Given the description of an element on the screen output the (x, y) to click on. 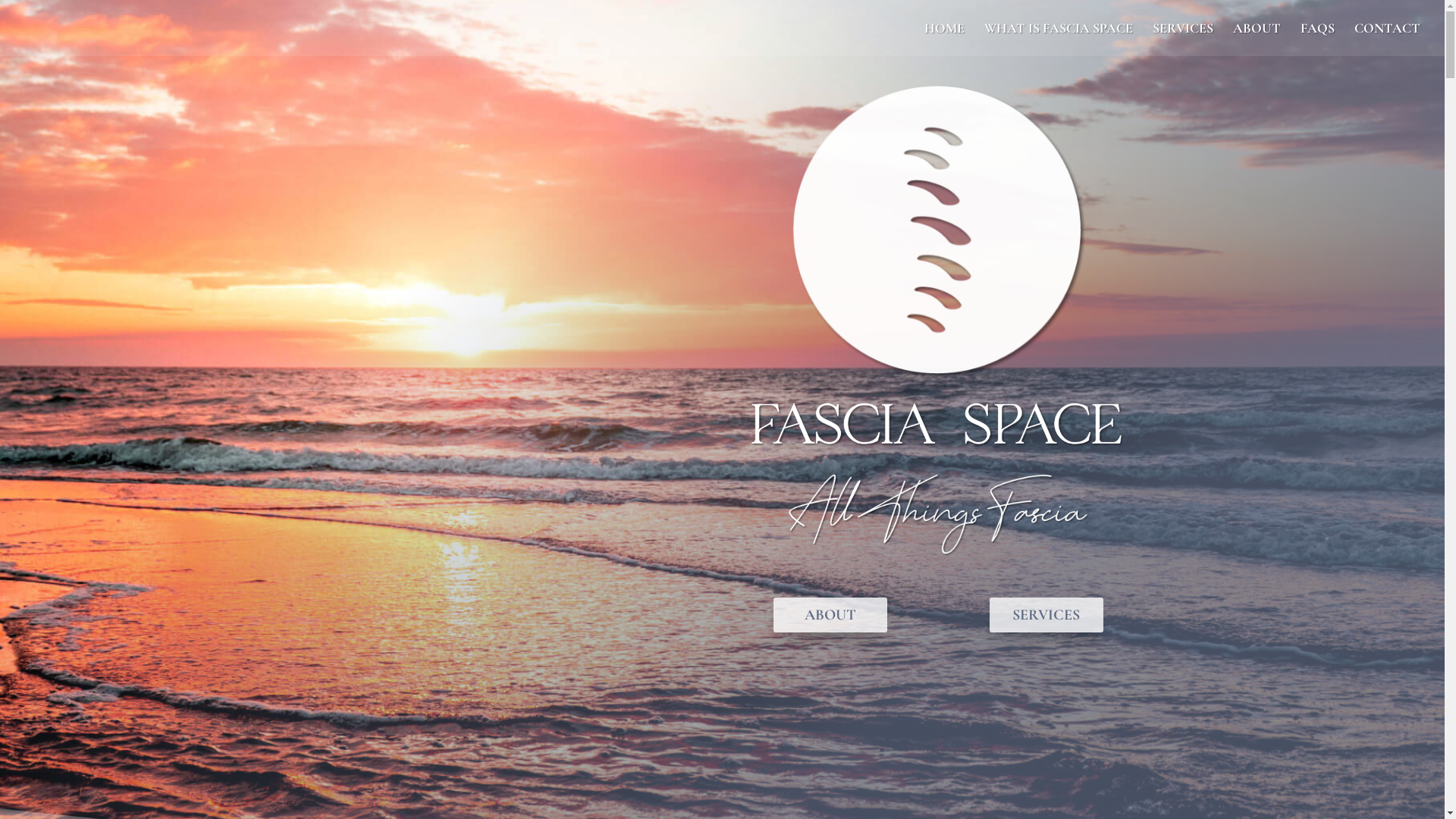
SERVICES Element type: text (1182, 39)
All Things Fascia Element type: hover (937, 513)
HOME Element type: text (944, 39)
FAQS Element type: text (1317, 39)
Fascia Space Element type: hover (937, 424)
ABOUT Element type: text (830, 614)
SERVICES Element type: text (1046, 614)
ABOUT Element type: text (1256, 39)
Fascia Space Element type: hover (937, 231)
WHAT IS FASCIA SPACE Element type: text (1058, 39)
CONTACT Element type: text (1387, 39)
